Given the description of an element on the screen output the (x, y) to click on. 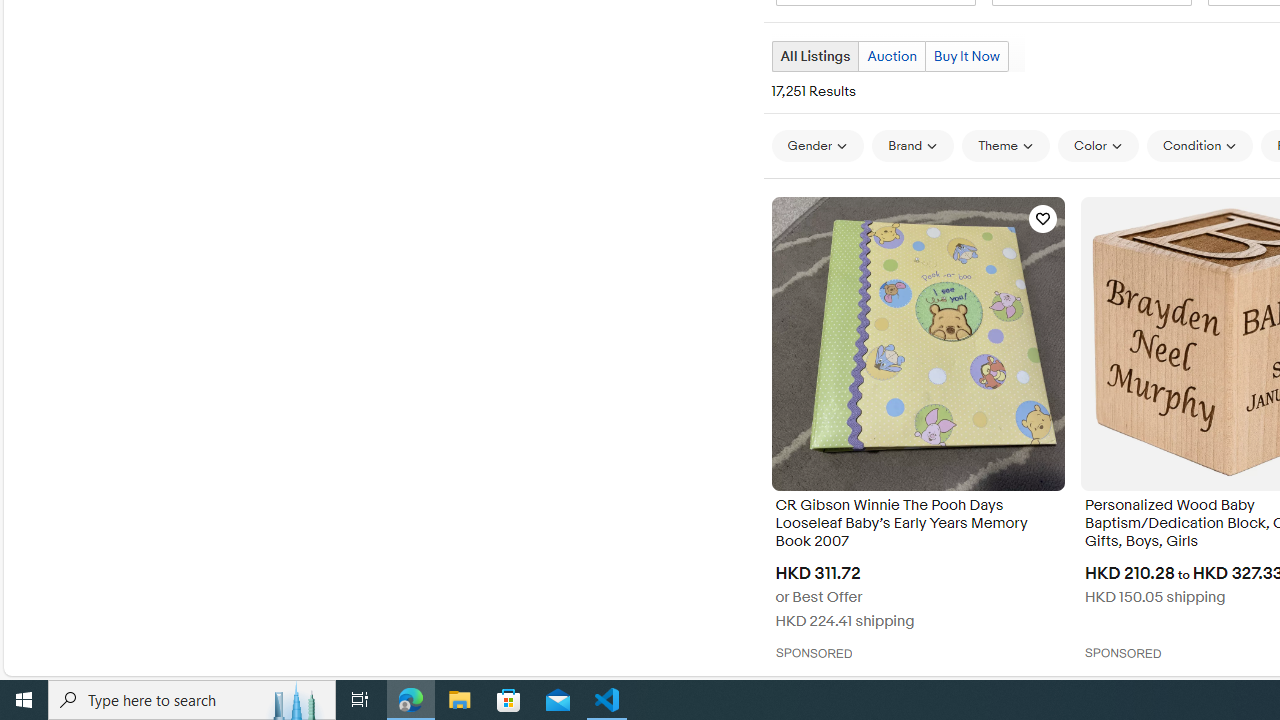
Condition (1199, 146)
Buy It Now (966, 56)
Buy It Now (966, 56)
All Listings Current view (814, 56)
